Given the description of an element on the screen output the (x, y) to click on. 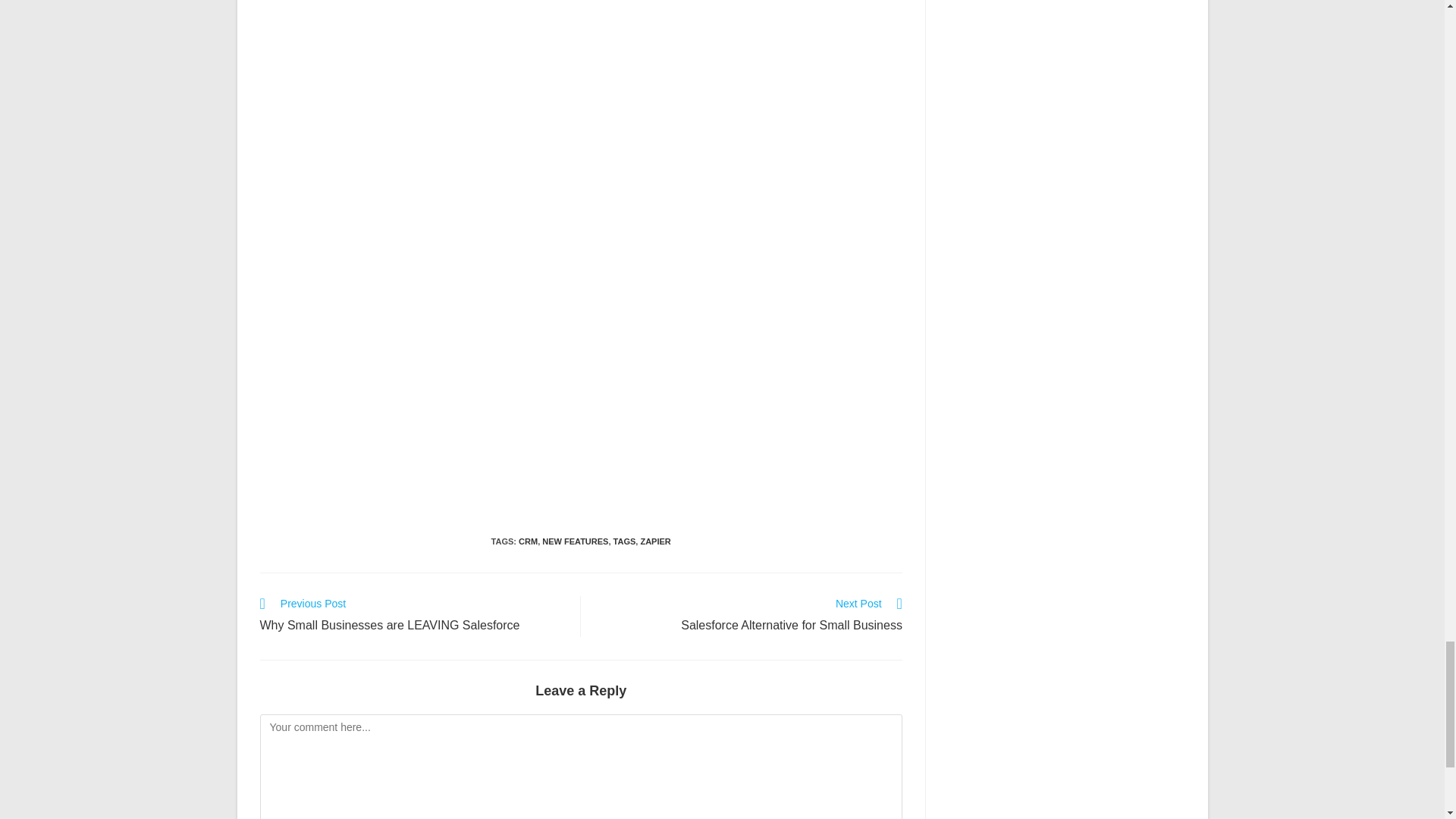
NEW FEATURES (574, 541)
TAGS (624, 541)
CRM (527, 541)
